Given the description of an element on the screen output the (x, y) to click on. 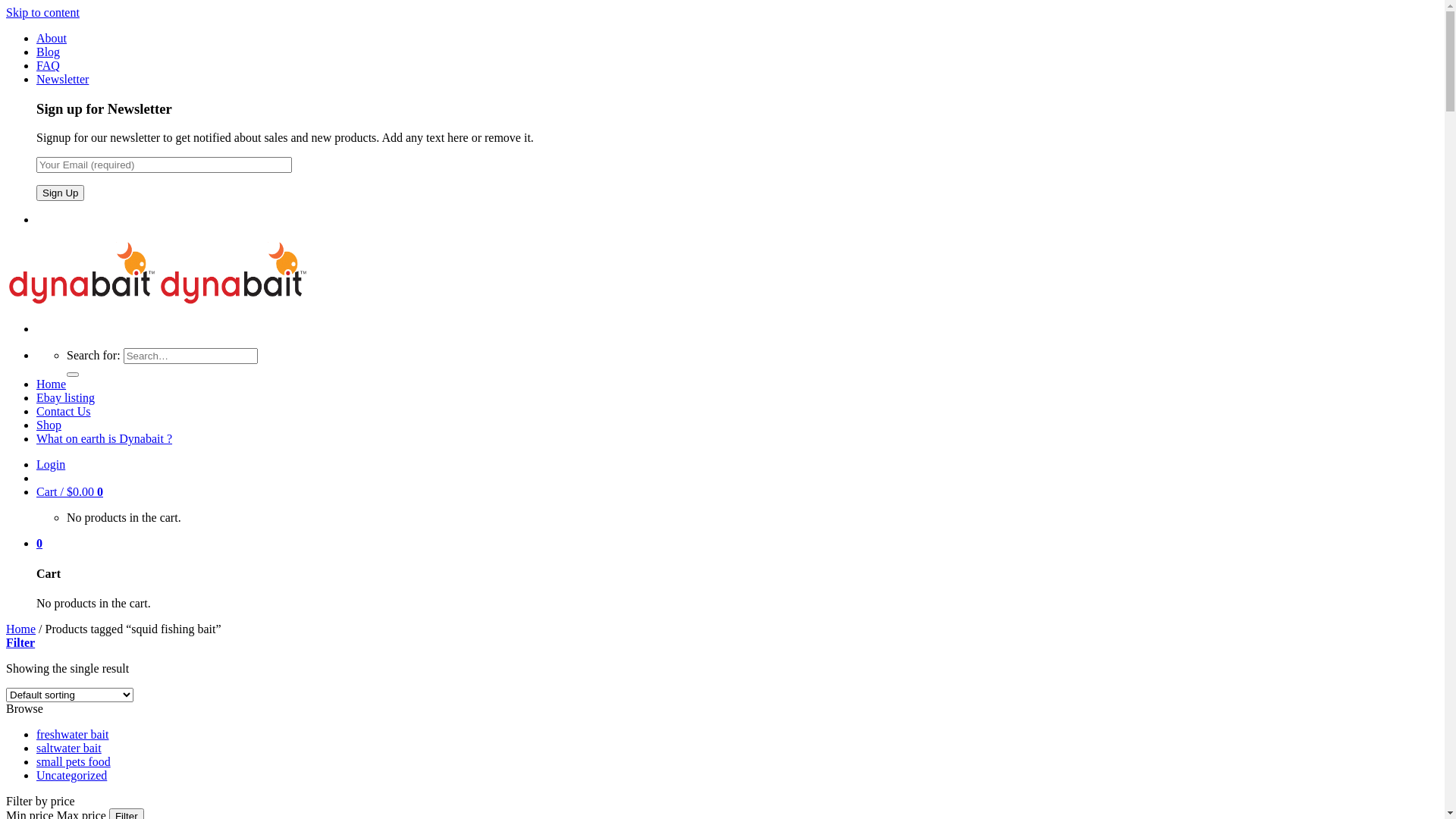
Filter Element type: text (20, 642)
Blog Element type: text (47, 51)
Uncategorized Element type: text (71, 774)
Home Element type: text (50, 383)
Cart / $0.00 0 Element type: text (69, 491)
Search Element type: text (72, 374)
Login Element type: text (50, 464)
small pets food Element type: text (73, 761)
Contact Us Element type: text (63, 410)
About Element type: text (51, 37)
0 Element type: text (39, 542)
Ebay listing Element type: text (65, 397)
saltwater bait Element type: text (68, 747)
freshwater bait Element type: text (72, 734)
Sign Up Element type: text (60, 192)
FAQ Element type: text (47, 65)
dynabait.com.au - dynabait.com.au Element type: hover (157, 302)
Home Element type: text (20, 628)
What on earth is Dynabait ? Element type: text (104, 438)
Newsletter Element type: text (62, 78)
Skip to content Element type: text (42, 12)
Shop Element type: text (48, 424)
